Given the description of an element on the screen output the (x, y) to click on. 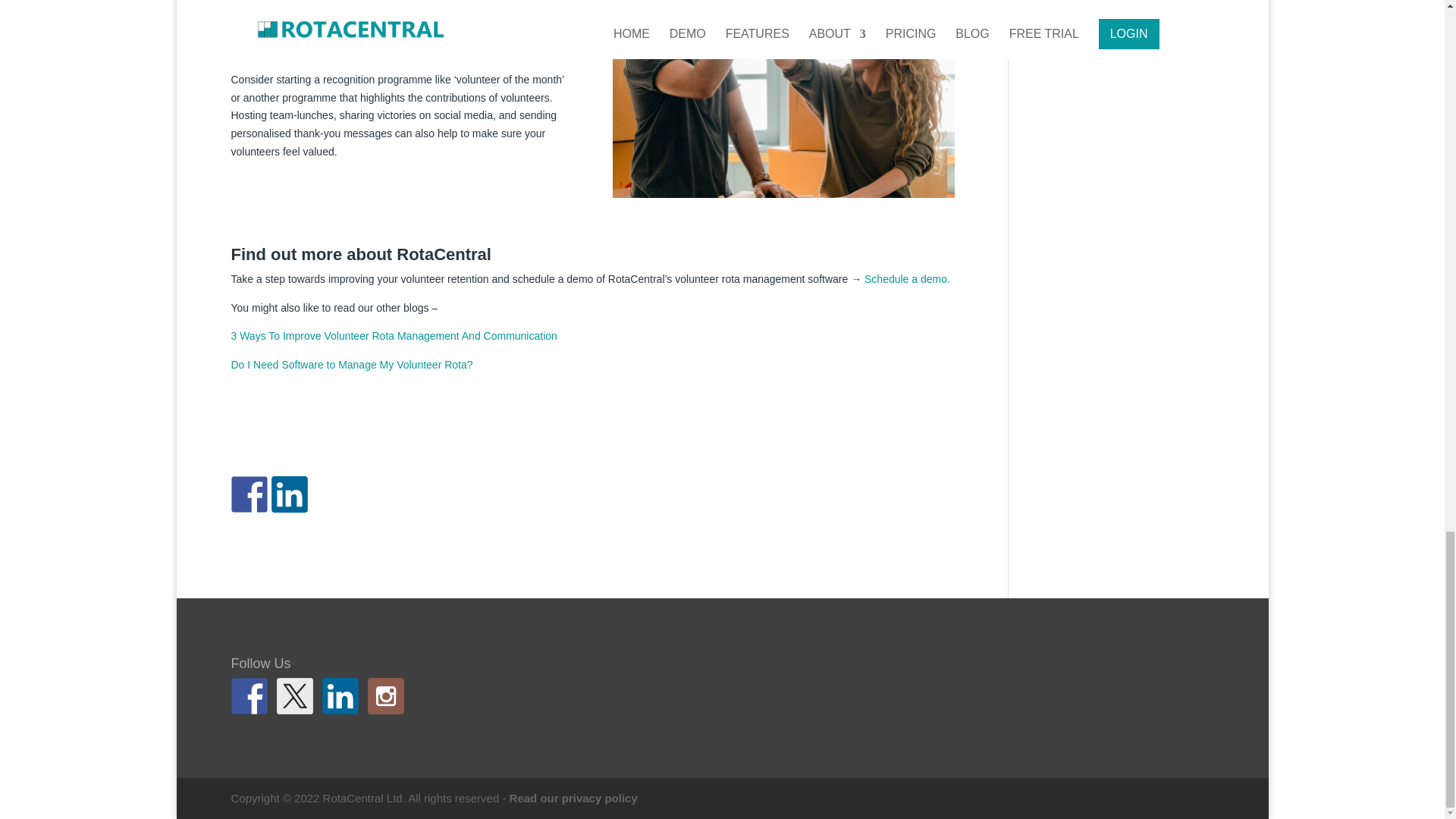
Find us on Linkedin (339, 696)
pexels-ketut-subiyanto-4246202 (783, 99)
Share on Facebook (248, 493)
Share on Linkedin (288, 493)
Follow us on Twitter (294, 696)
Schedule a demo. (907, 278)
Do I Need Software to Manage My Volunteer Rota? (350, 364)
Follow us on Facebook (248, 696)
